Given the description of an element on the screen output the (x, y) to click on. 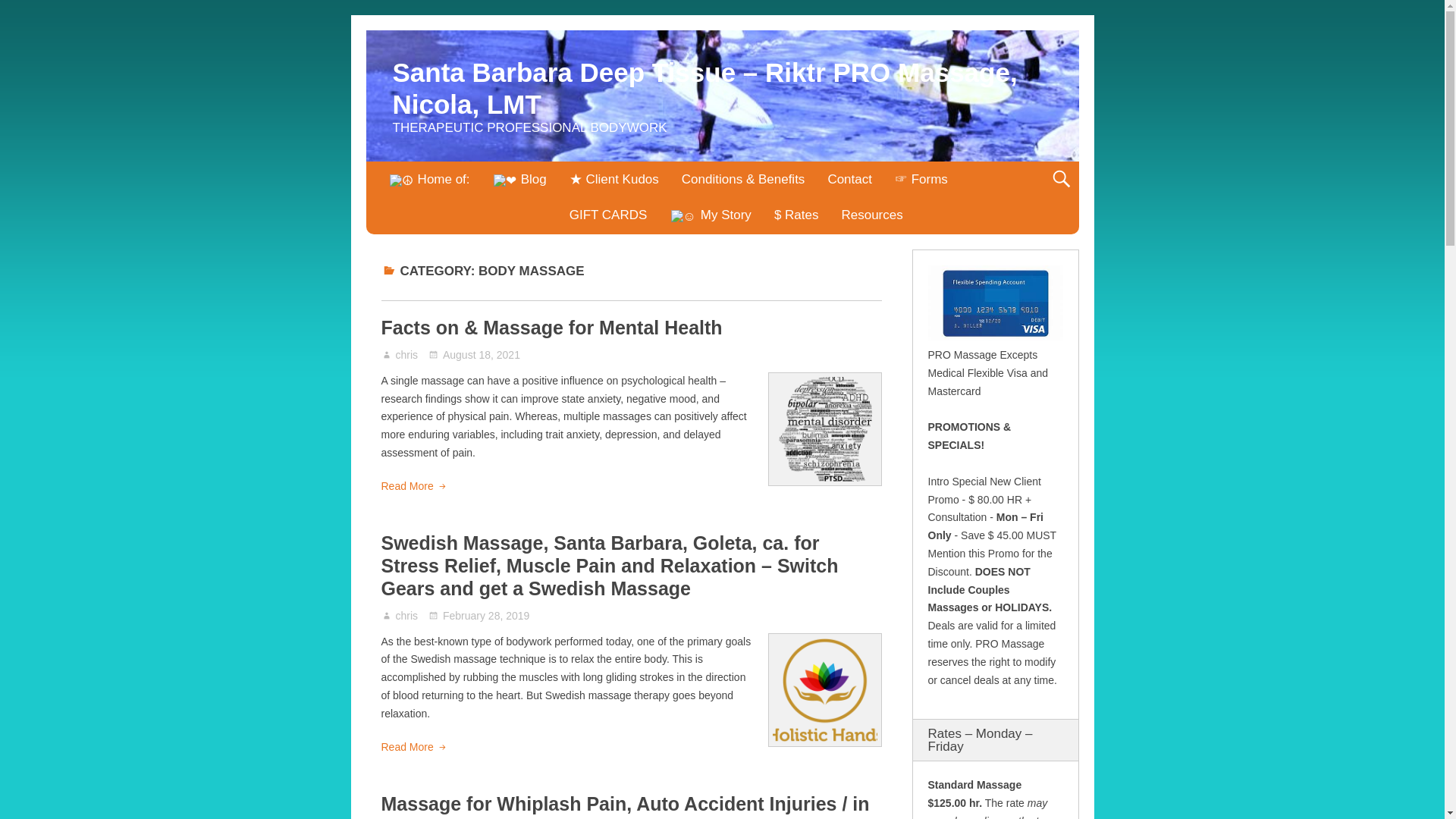
August 18, 2021 (473, 354)
Read More (413, 747)
Home of: (429, 180)
Read More (413, 486)
Posts by chris (407, 615)
My Story (710, 215)
February 28, 2019 (478, 615)
Contact (849, 179)
GIFT CARDS (608, 214)
Posts by chris (407, 354)
chris (407, 615)
Blog (519, 180)
chris (407, 354)
Resources (871, 214)
